Given the description of an element on the screen output the (x, y) to click on. 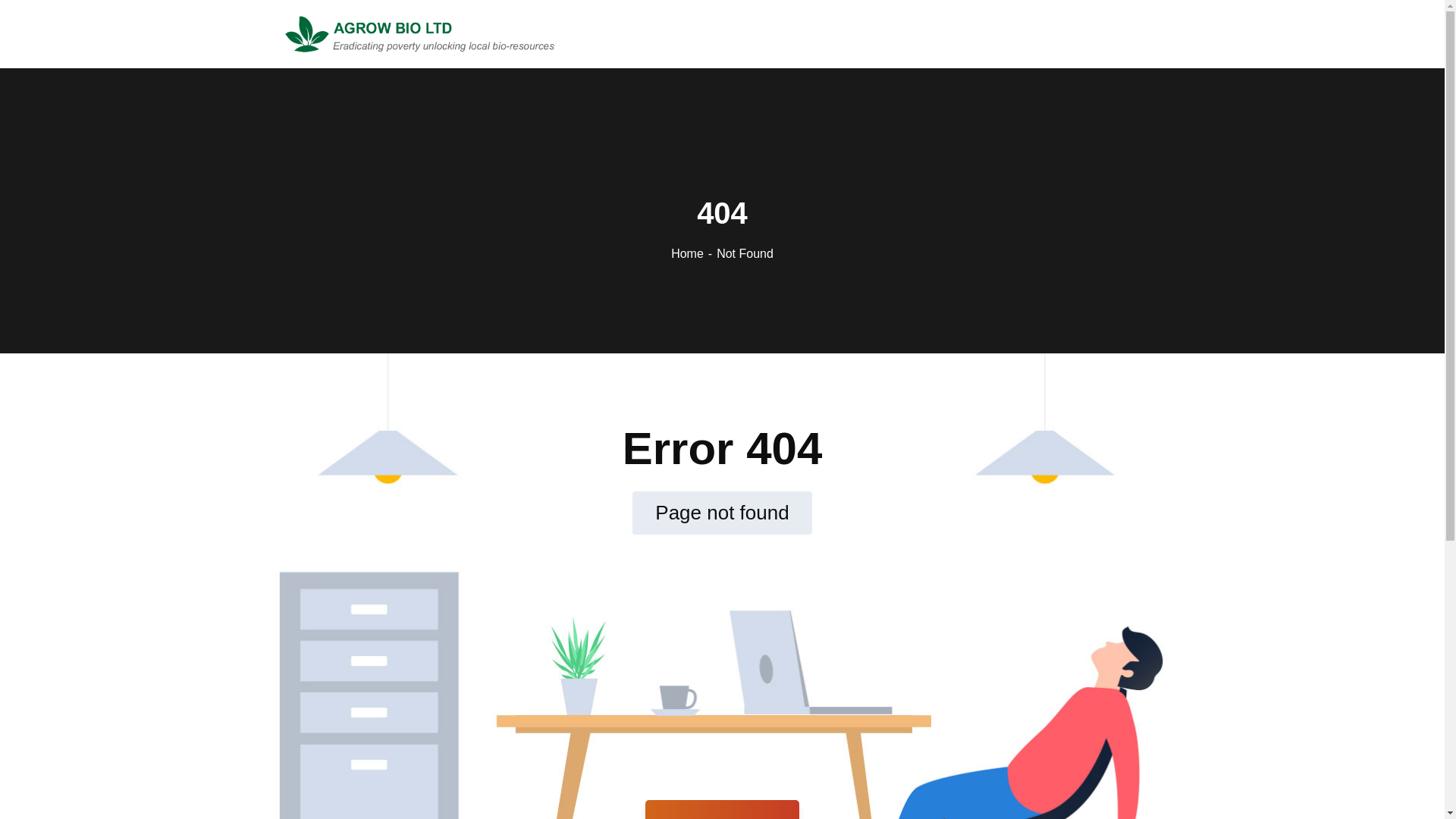
Home (693, 253)
Go Home now (722, 809)
Agrow Bio Ltd (420, 32)
